Given the description of an element on the screen output the (x, y) to click on. 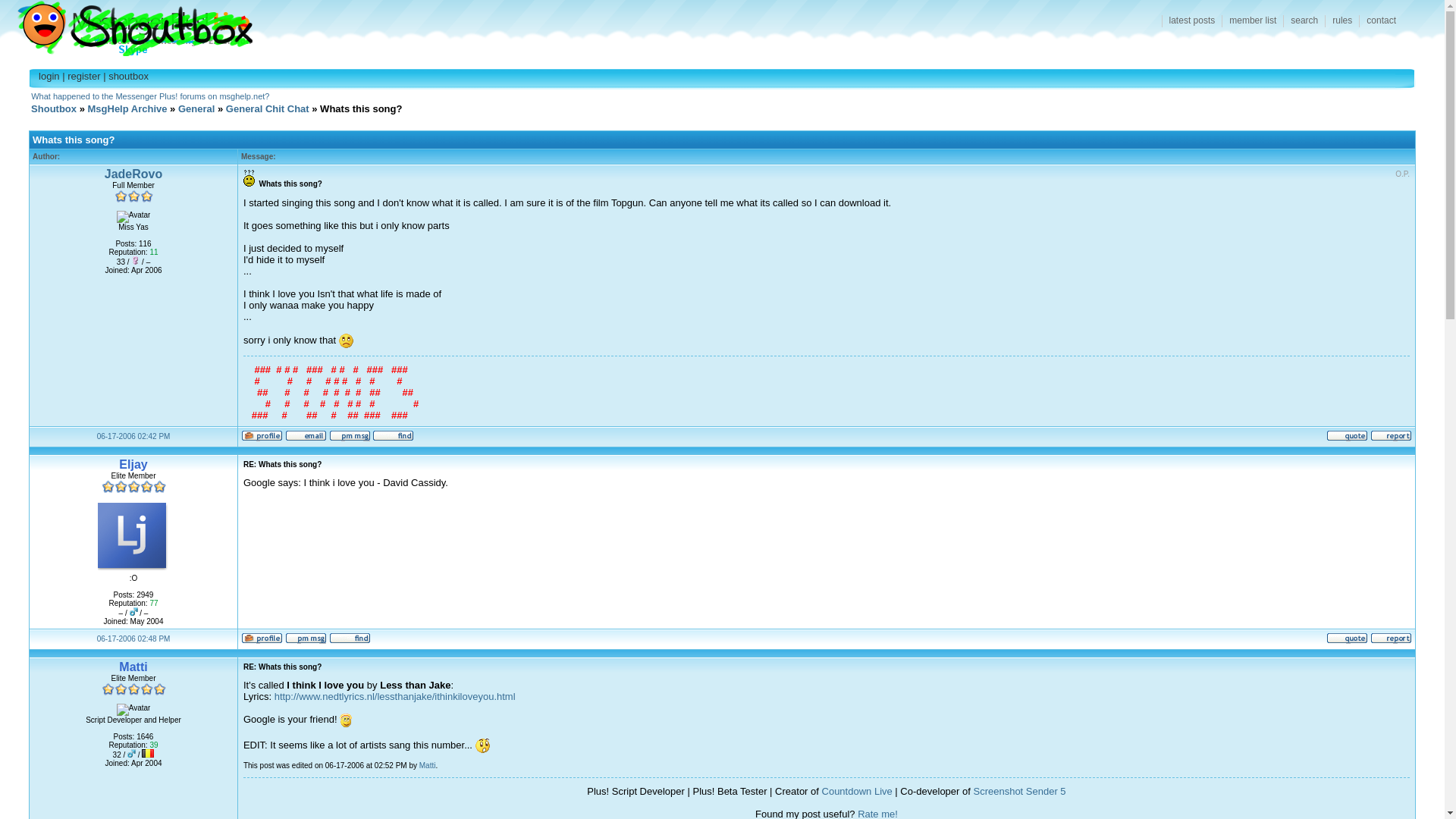
06-17-2006 02:42 PM (133, 436)
Eljay (133, 463)
Shoutbox (53, 108)
Matti (133, 666)
rules (1341, 21)
register (83, 75)
What happened to the Messenger Plus! forums on msghelp.net? (149, 95)
search (1303, 21)
06-17-2006 02:48 PM (133, 638)
General (195, 108)
